Given the description of an element on the screen output the (x, y) to click on. 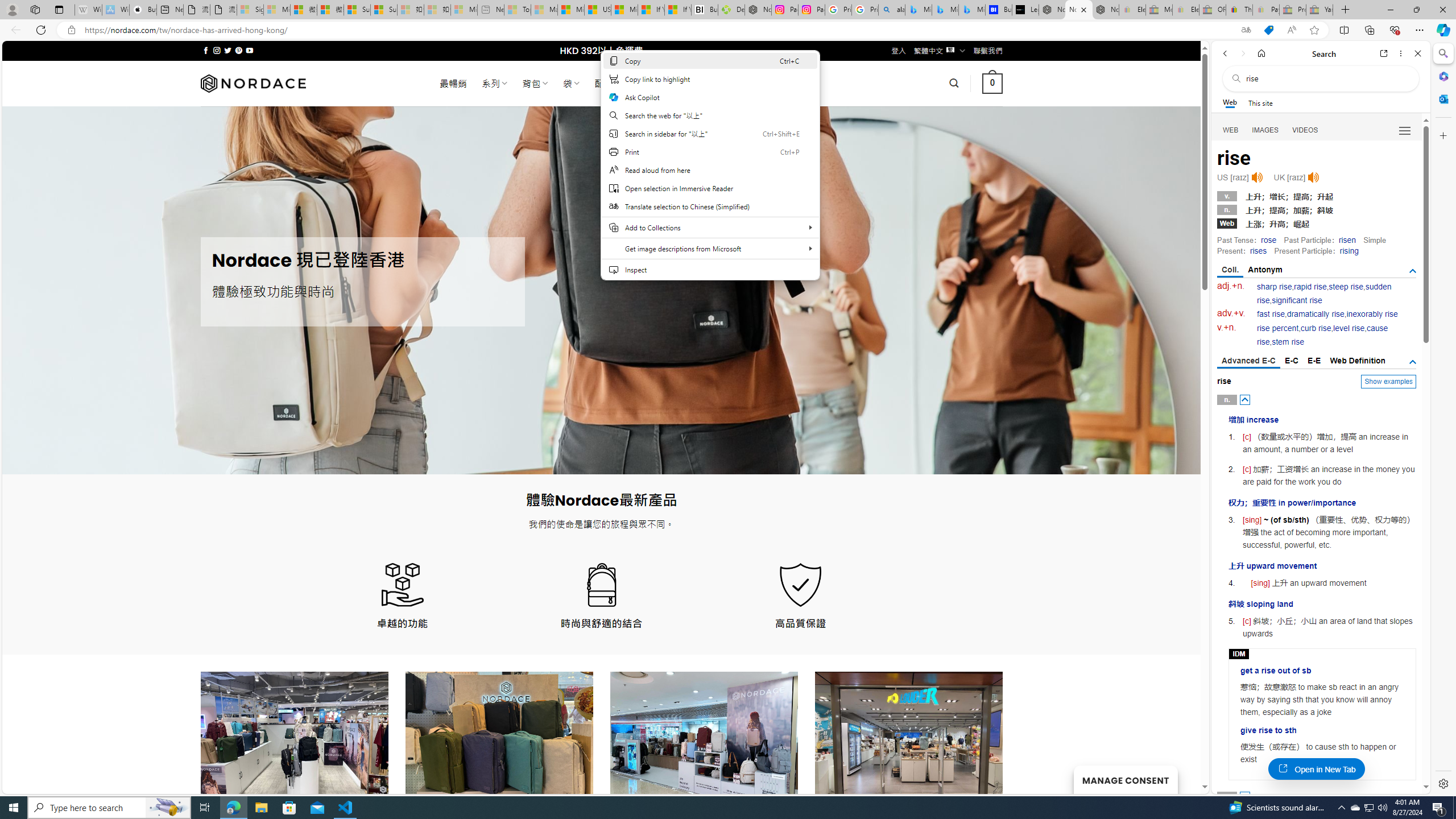
 0  (992, 83)
steep rise (1345, 286)
Follow on YouTube (249, 50)
Search the web (1326, 78)
Preferences (1403, 129)
Buy iPad - Apple (143, 9)
stem rise (1287, 341)
sudden rise (1323, 293)
